Given the description of an element on the screen output the (x, y) to click on. 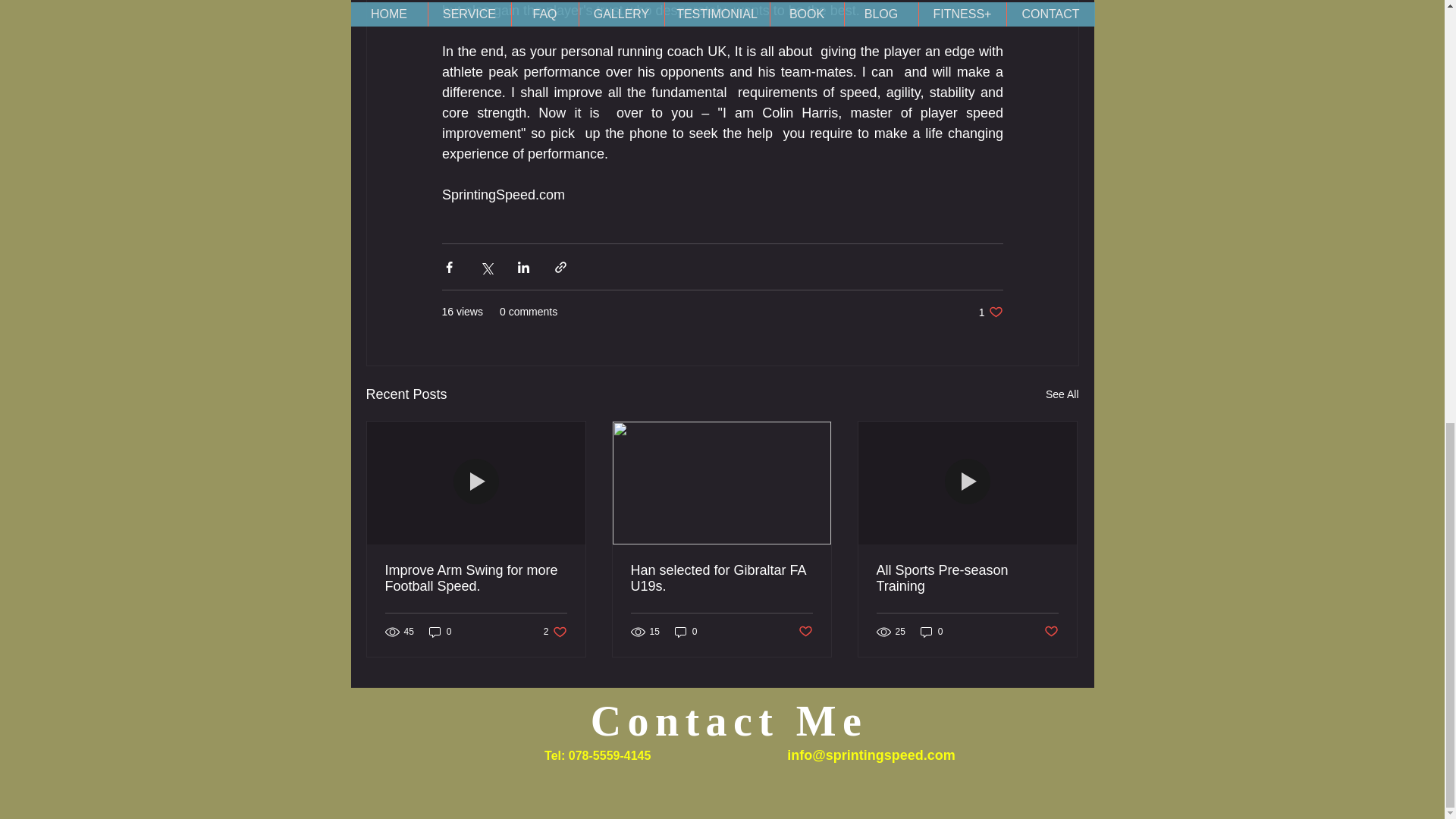
Han selected for Gibraltar FA U19s. (721, 578)
0 (555, 631)
Post not marked as liked (440, 631)
0 (804, 631)
Post not marked as liked (931, 631)
0 (1050, 631)
See All (990, 311)
Improve Arm Swing for more Football Speed. (685, 631)
